Given the description of an element on the screen output the (x, y) to click on. 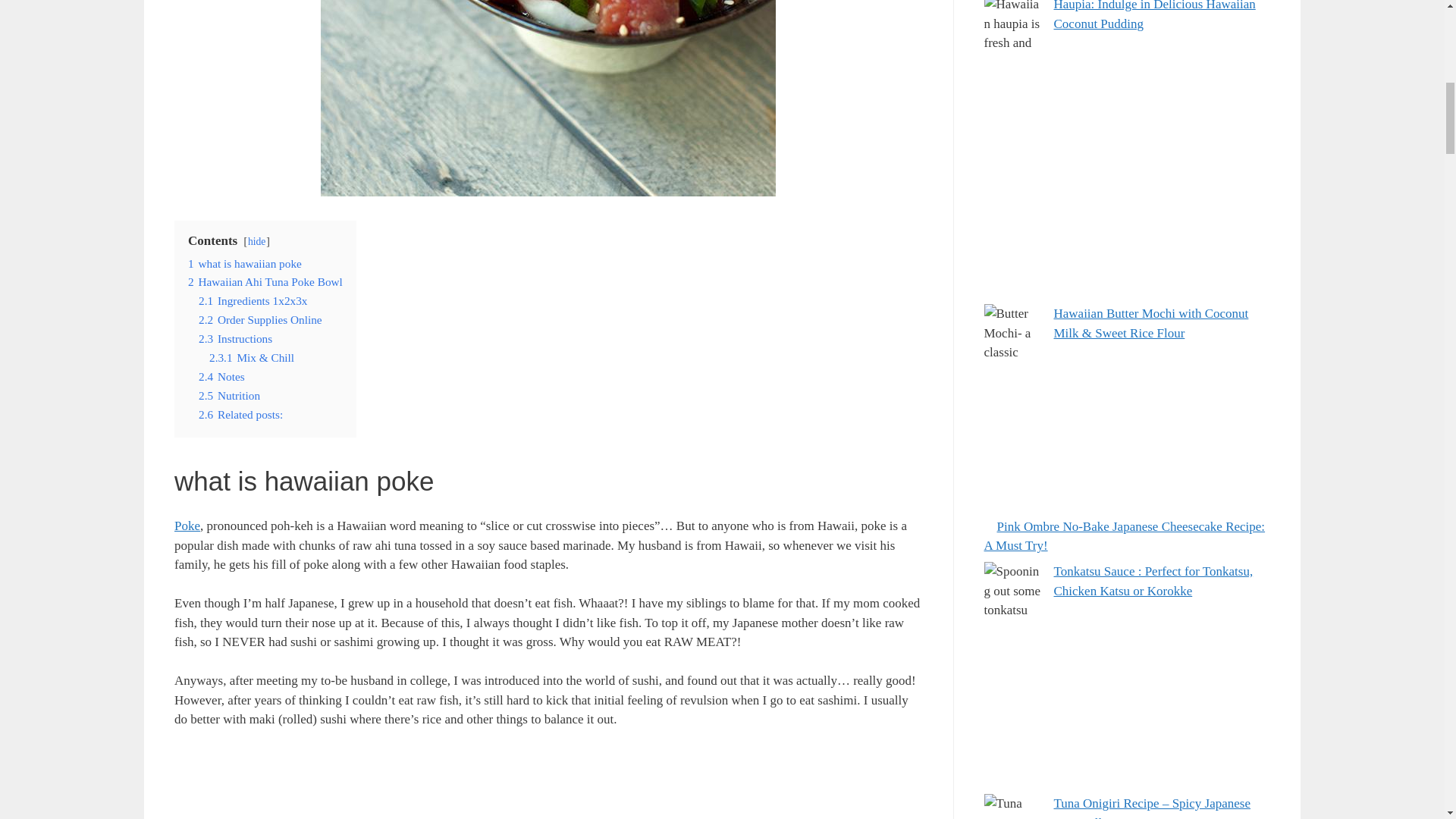
2.6 Related posts: (240, 413)
2 Hawaiian Ahi Tuna Poke Bowl (264, 281)
2.4 Notes (221, 376)
1 what is hawaiian poke (244, 262)
hide (255, 241)
2.5 Nutrition (229, 395)
2.1 Ingredients 1x2x3x (252, 300)
Poke (187, 525)
2.2 Order Supplies Online (259, 318)
2.3 Instructions (235, 338)
